Given the description of an element on the screen output the (x, y) to click on. 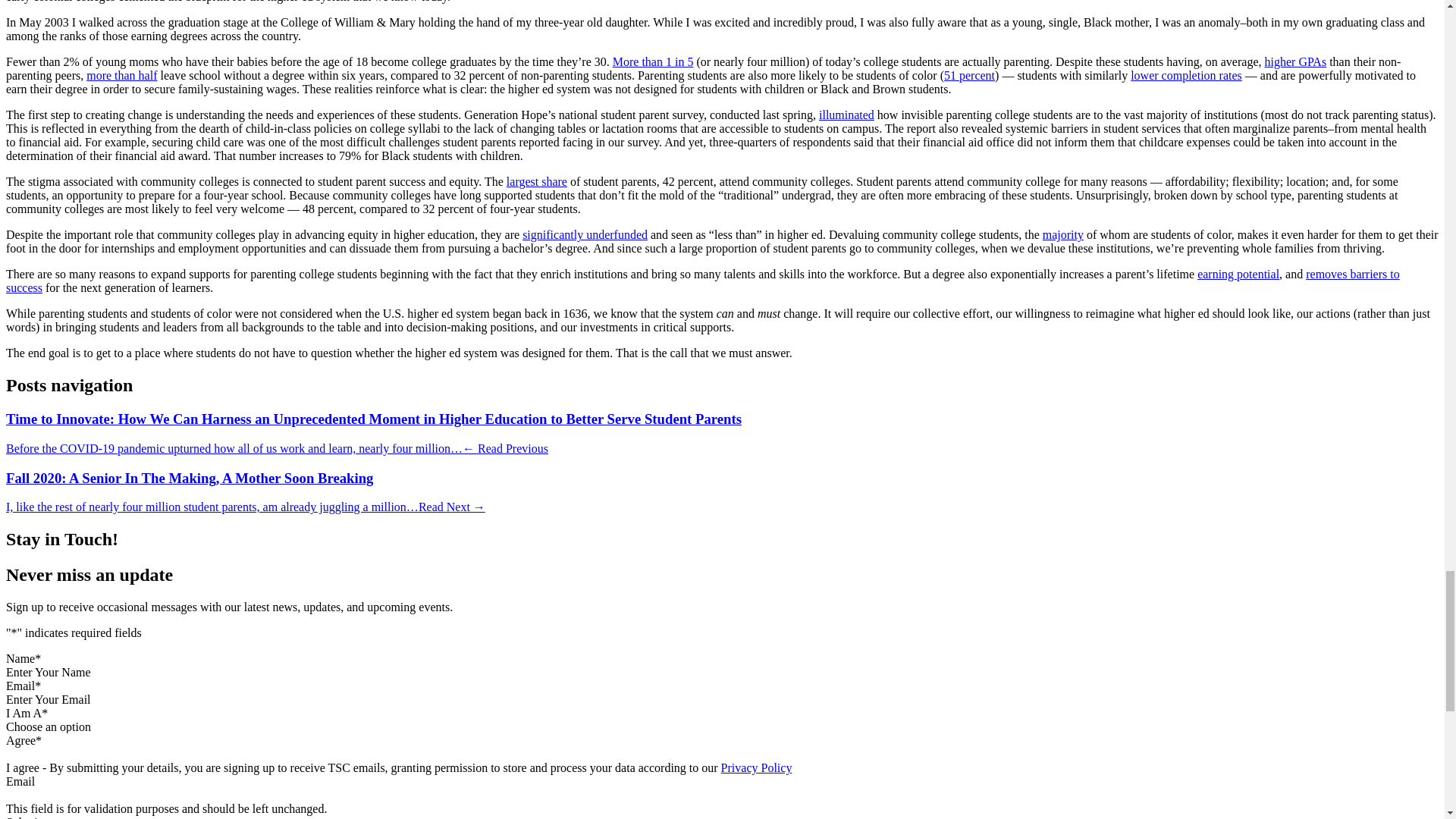
lower completion rates (1186, 74)
higher GPAs (1295, 61)
more than half (121, 74)
More than 1 in 5 (653, 61)
Submit (22, 817)
51 percent (968, 74)
